Given the description of an element on the screen output the (x, y) to click on. 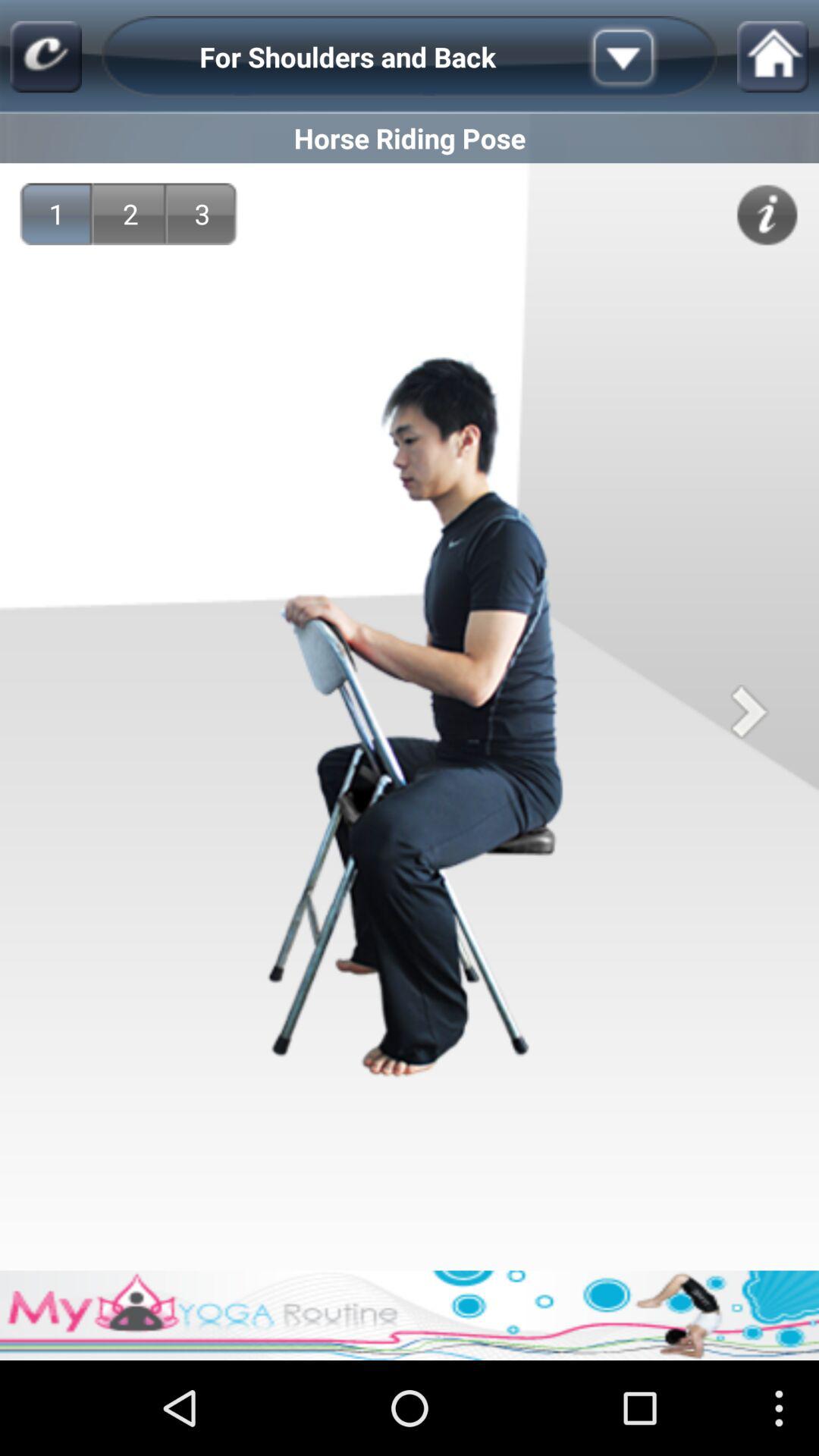
open app to the left of the 2 (56, 214)
